Given the description of an element on the screen output the (x, y) to click on. 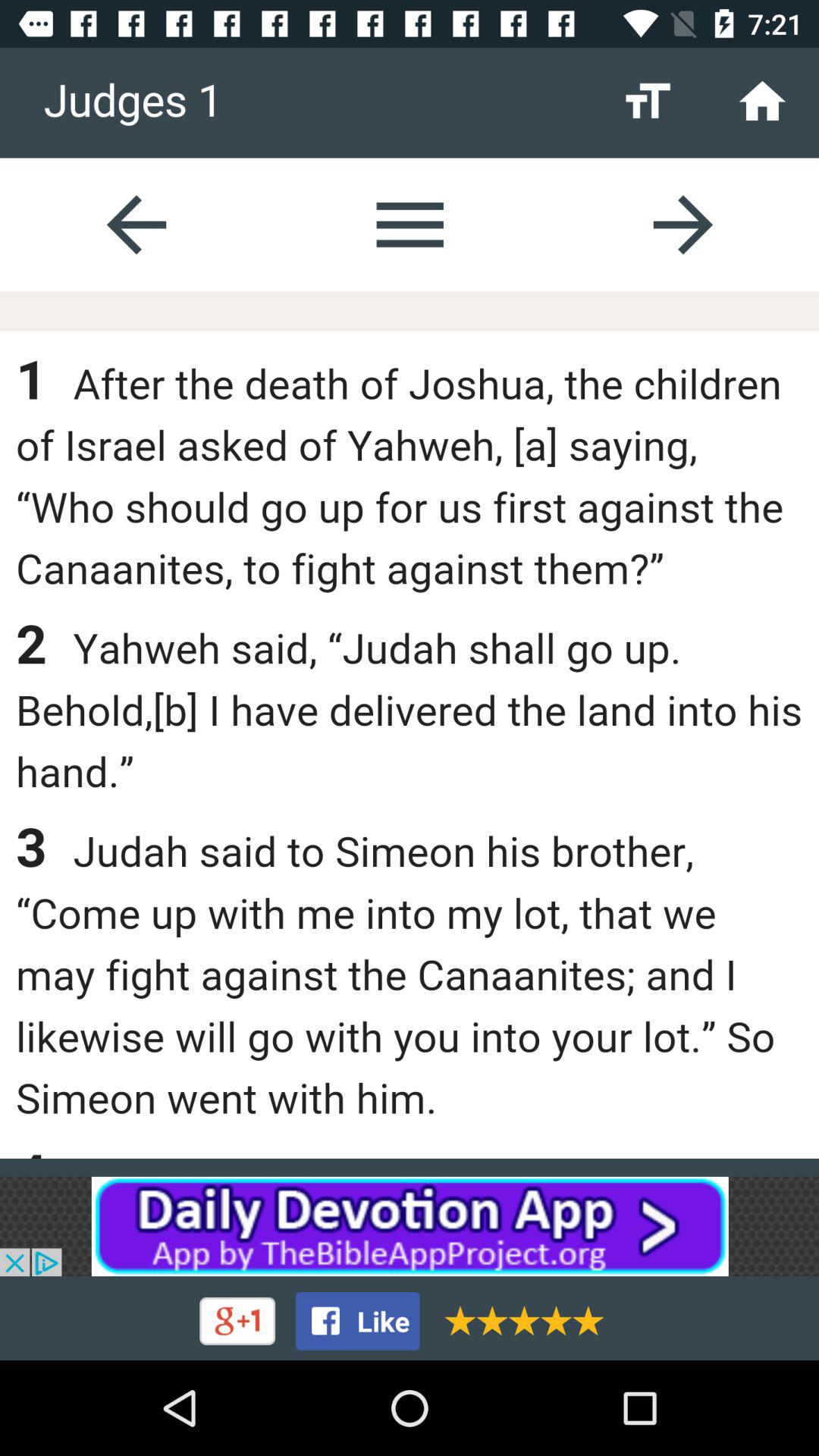
advertisement for rating stars (518, 1320)
